Given the description of an element on the screen output the (x, y) to click on. 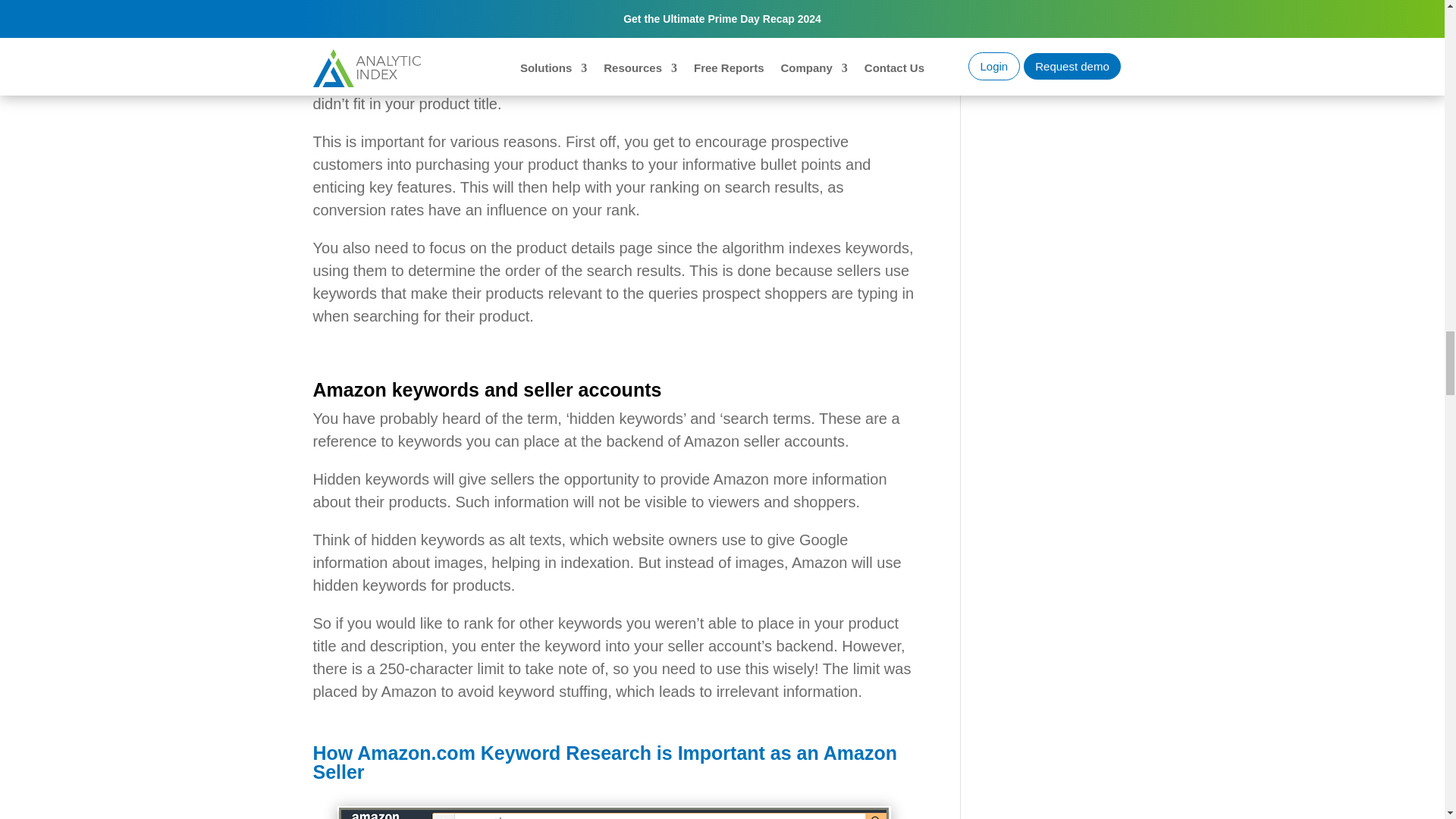
amazon keyword research 3 (614, 812)
